Given the description of an element on the screen output the (x, y) to click on. 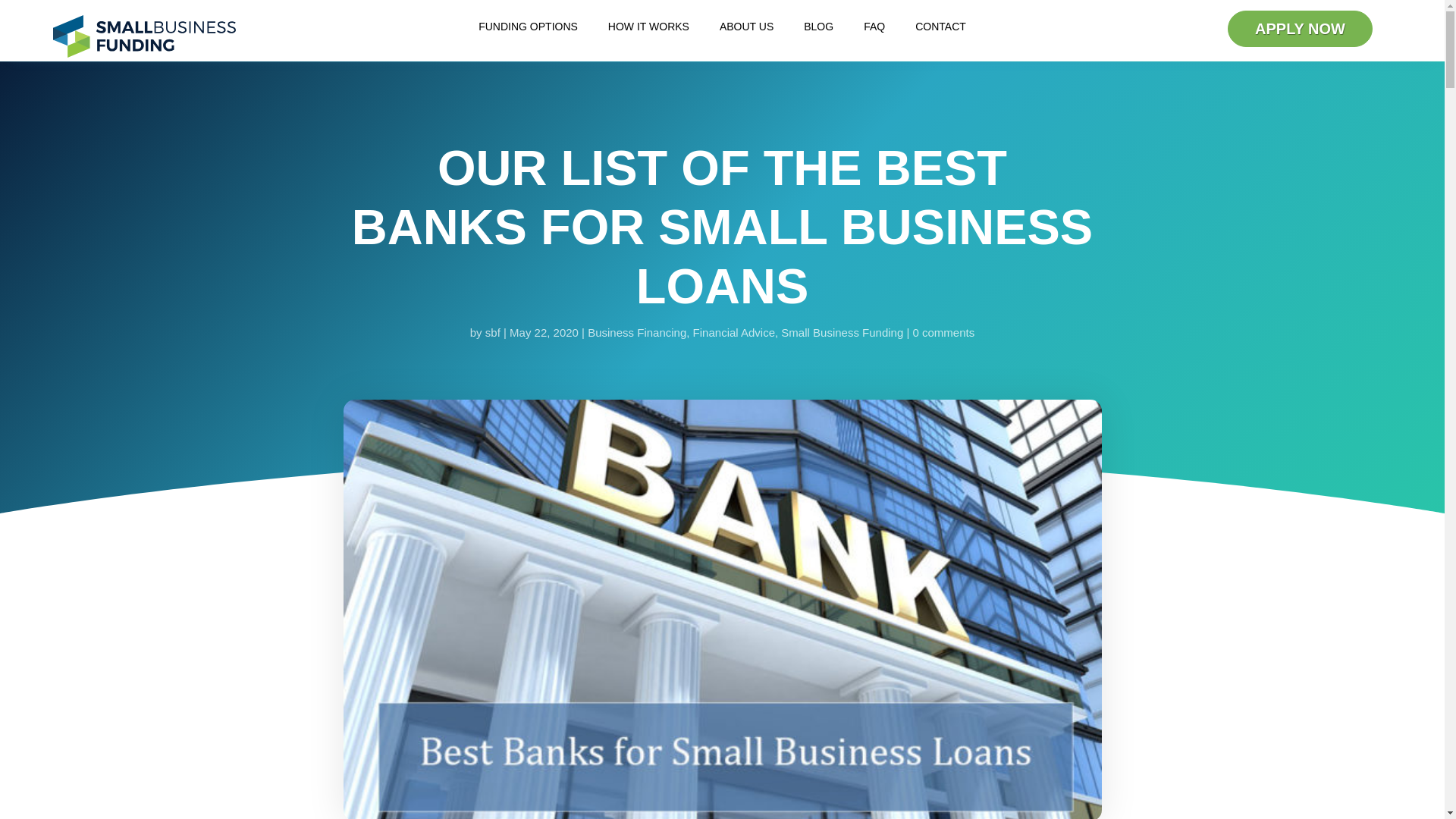
0 comments (943, 332)
ABOUT US (746, 29)
Small Business Funding (841, 332)
Business Financing (636, 332)
Financial Advice (733, 332)
CONTACT (940, 29)
HOW IT WORKS (648, 29)
FAQ (874, 29)
Posts by sbf (492, 332)
